Given the description of an element on the screen output the (x, y) to click on. 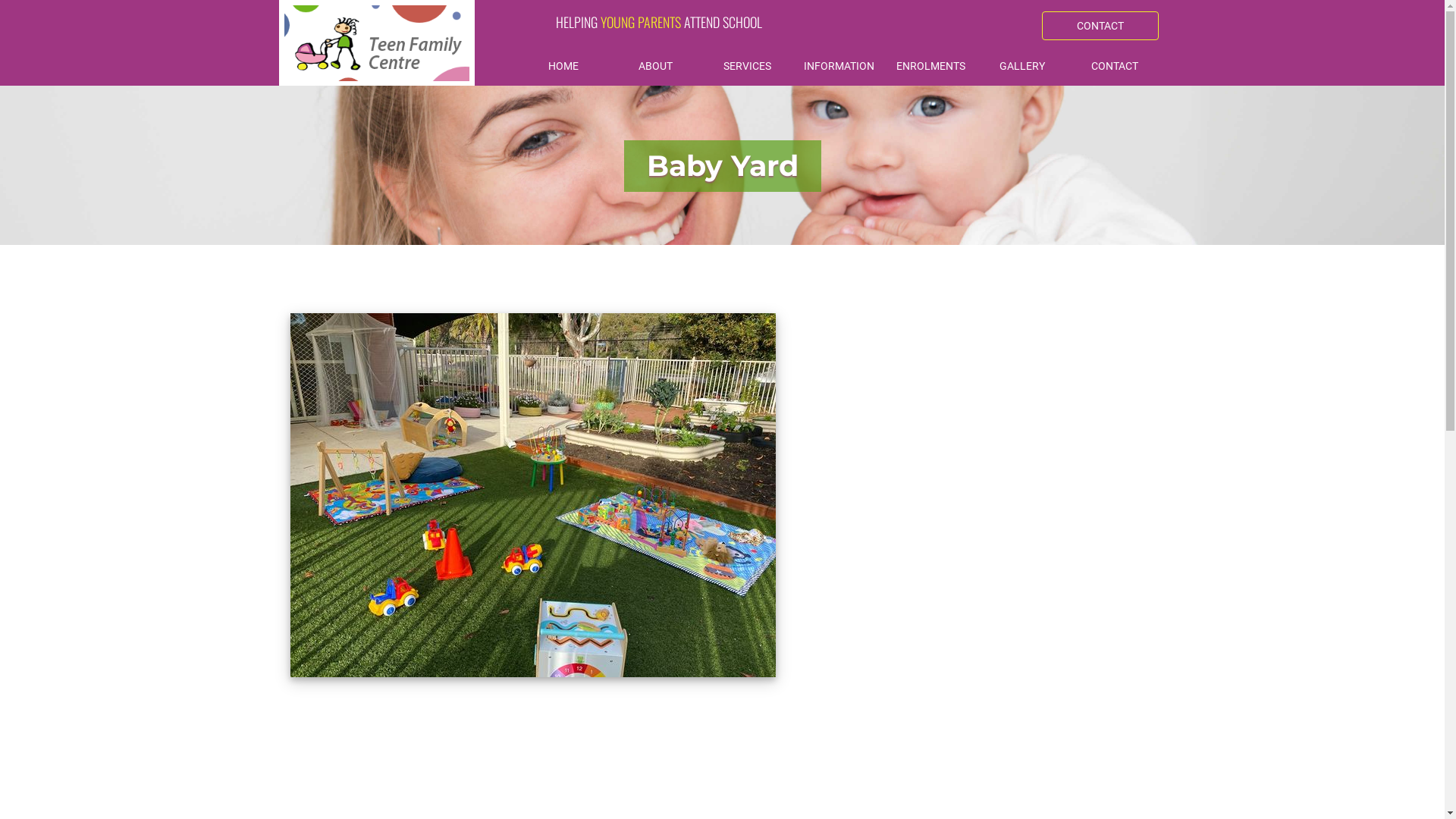
ENROLMENTS Element type: text (930, 66)
HOME Element type: text (562, 66)
INFORMATION Element type: text (838, 66)
CONTACT Element type: text (1099, 25)
SERVICES Element type: text (747, 66)
Skip to main content Element type: text (0, 0)
CONTACT Element type: text (1114, 66)
Home Element type: hover (377, 42)
ABOUT Element type: text (655, 66)
GALLERY Element type: text (1022, 66)
